Given the description of an element on the screen output the (x, y) to click on. 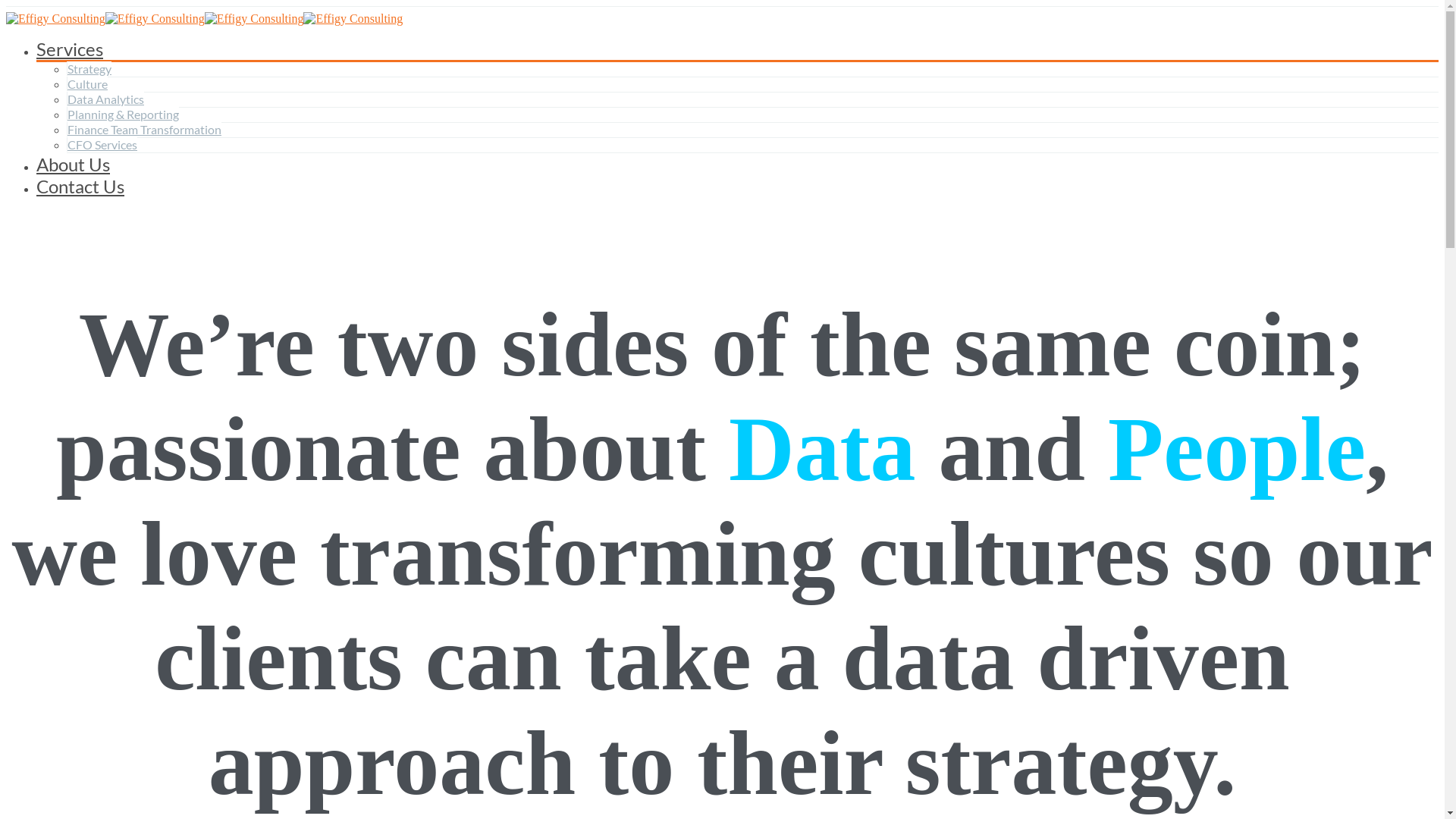
Effigy Consulting Element type: hover (352, 18)
Effigy Consulting Element type: hover (55, 18)
Strategy Element type: text (88, 68)
Contact Us Element type: text (80, 186)
CFO Services Element type: text (101, 144)
Data Analytics Element type: text (105, 98)
Finance Team Transformation Element type: text (143, 129)
Effigy Consulting Element type: hover (154, 18)
About Us Element type: text (72, 164)
Planning & Reporting Element type: text (122, 113)
Services Element type: text (69, 48)
Effigy Consulting Element type: hover (254, 18)
Culture Element type: text (86, 83)
